Given the description of an element on the screen output the (x, y) to click on. 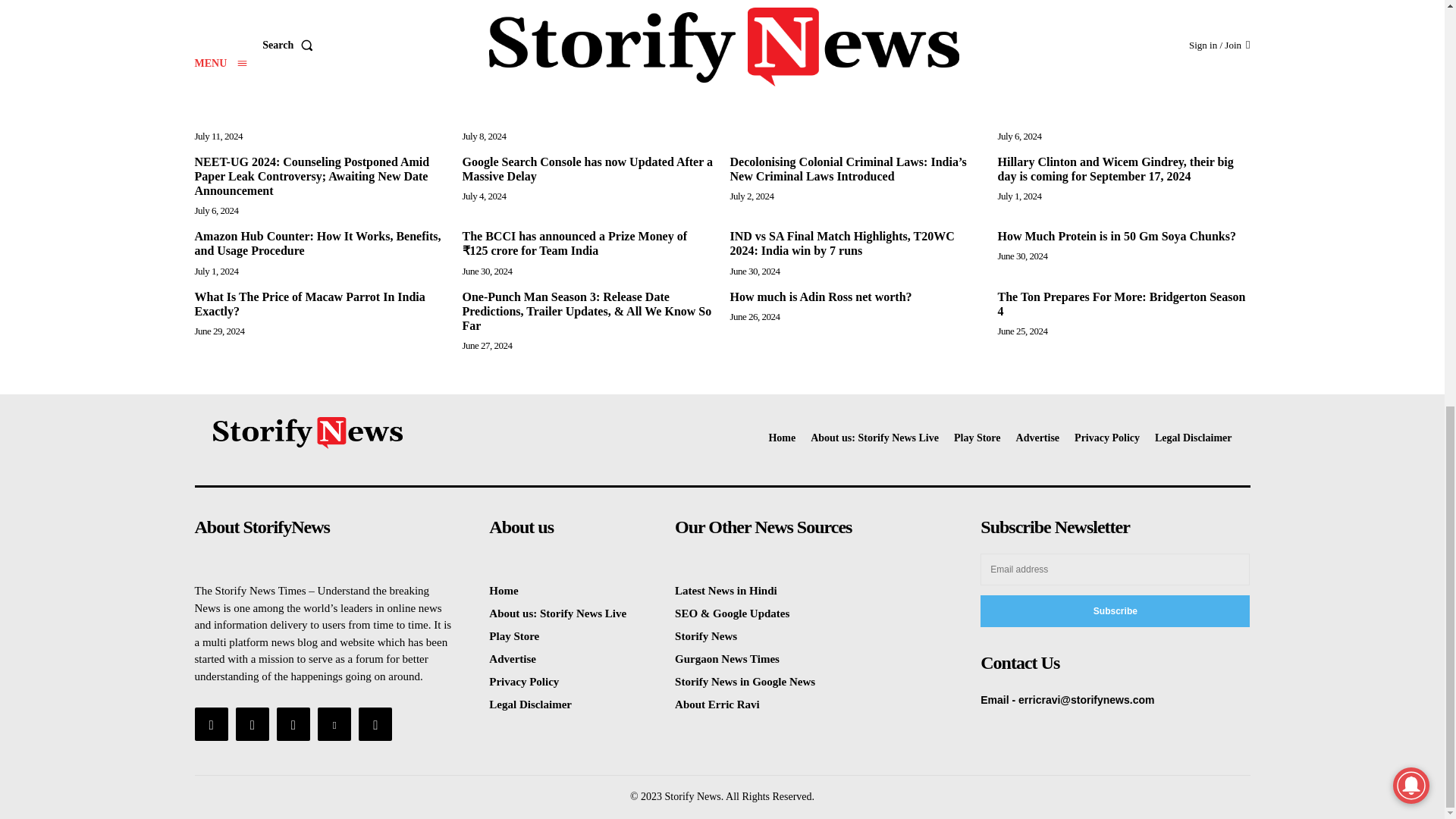
Supacell Season 2 on Netflix Canceled? What We Know So Far (580, 108)
PBN WebEditor: Debunking Myths and Highlighting Risks 2024 (1118, 7)
